Given the description of an element on the screen output the (x, y) to click on. 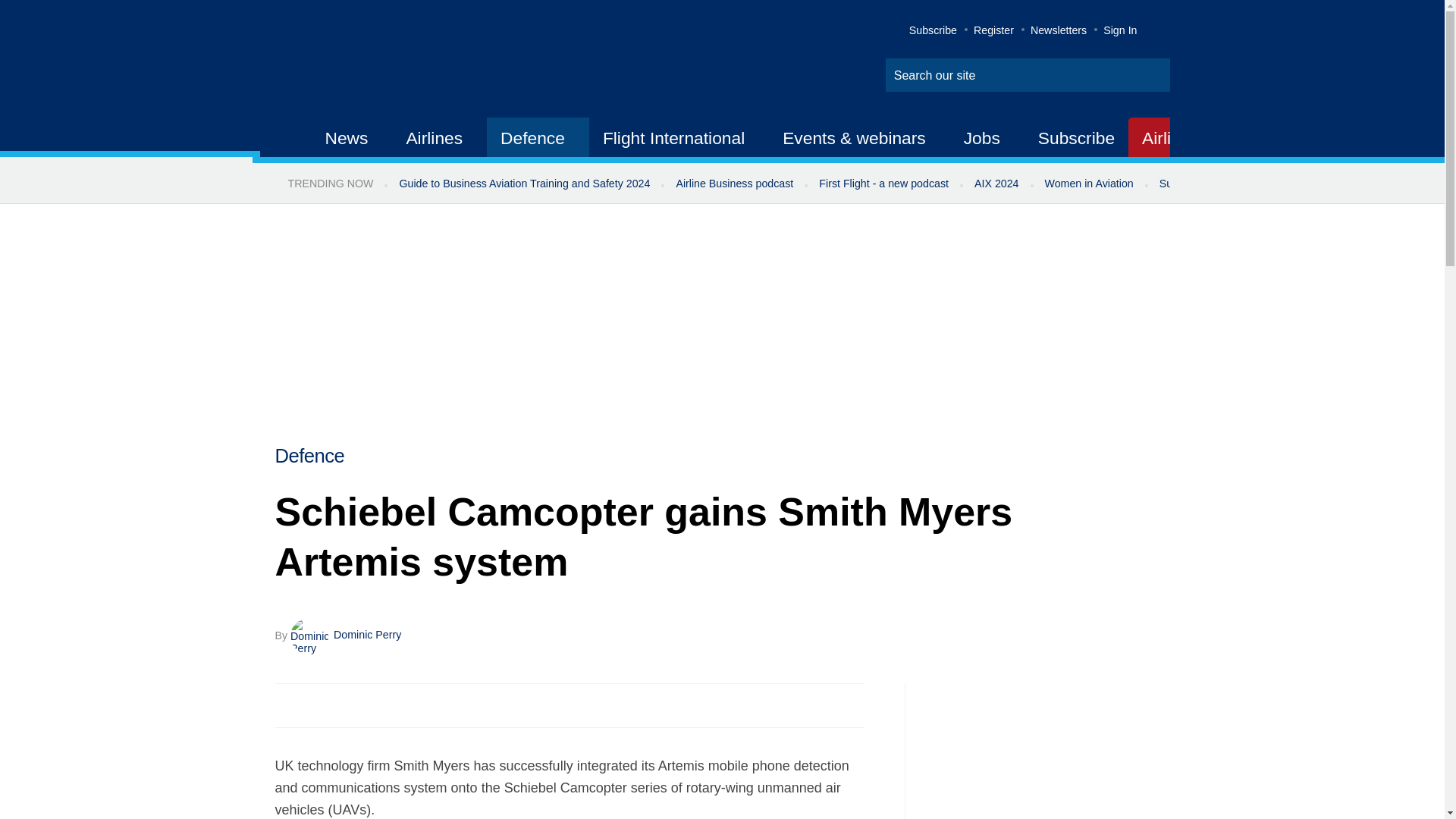
Share this on Facebook (288, 705)
Airline Business podcast (734, 183)
First Flight - a new podcast (883, 183)
Email this article (386, 705)
Site name (422, 60)
Share this on Twitter (320, 705)
Share this on Linked in (352, 705)
AIX 2024 (996, 183)
Sustainable Aviation newsletter (1234, 183)
Women in Aviation (1089, 183)
